Given the description of an element on the screen output the (x, y) to click on. 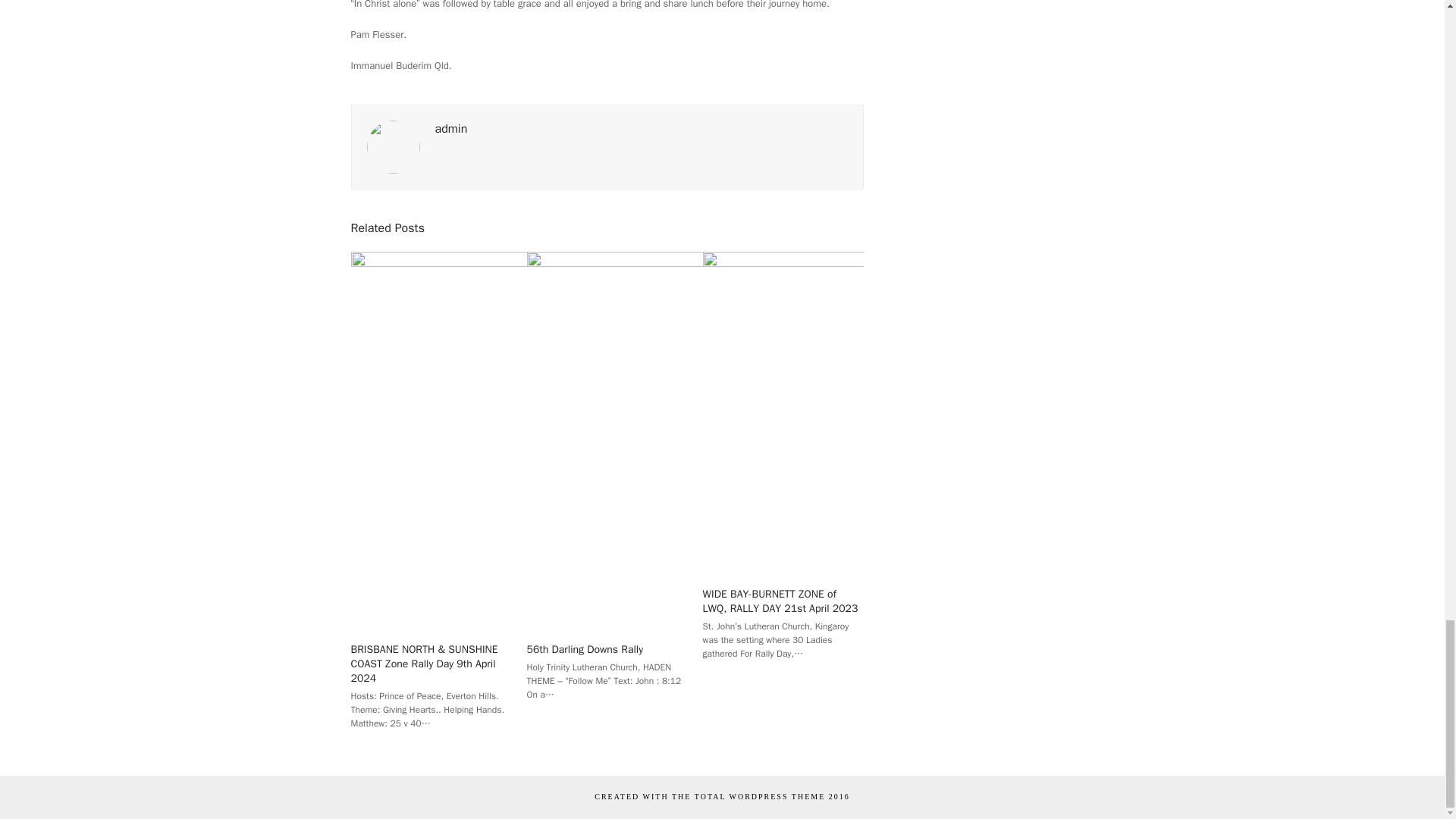
admin (451, 128)
56th Darling Downs Rally (811, 440)
Visit Author Page (451, 128)
WIDE BAY-BURNETT ZONE of LWQ, RALLY DAY 21st April 2023 (781, 601)
56th Darling Downs Rally (585, 649)
Visit Author Page (393, 145)
WIDE BAY-BURNETT ZONE of LWQ, RALLY DAY 21st April 2023 (945, 411)
